Given the description of an element on the screen output the (x, y) to click on. 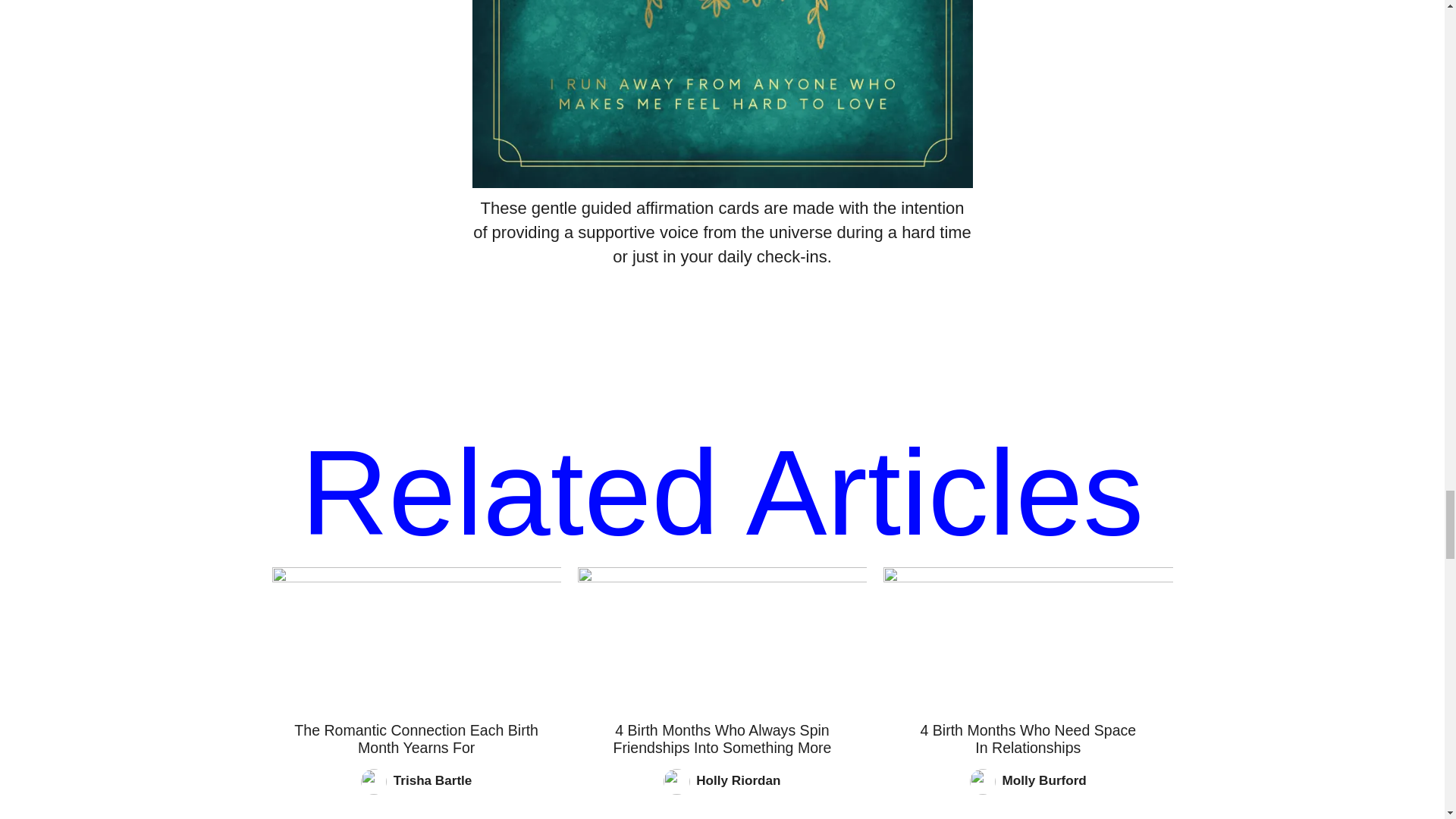
affirmation cards (697, 208)
The Romantic Connection Each Birth Month Yearns For (415, 637)
Holly Riordan (737, 780)
Trisha Bartle (432, 780)
Molly Burford (1044, 780)
4 Birth Months Who Need Space In Relationships (1027, 738)
The Romantic Connection Each Birth Month Yearns For (416, 738)
4 Birth Months Who Need Space In Relationships (1027, 637)
